Given the description of an element on the screen output the (x, y) to click on. 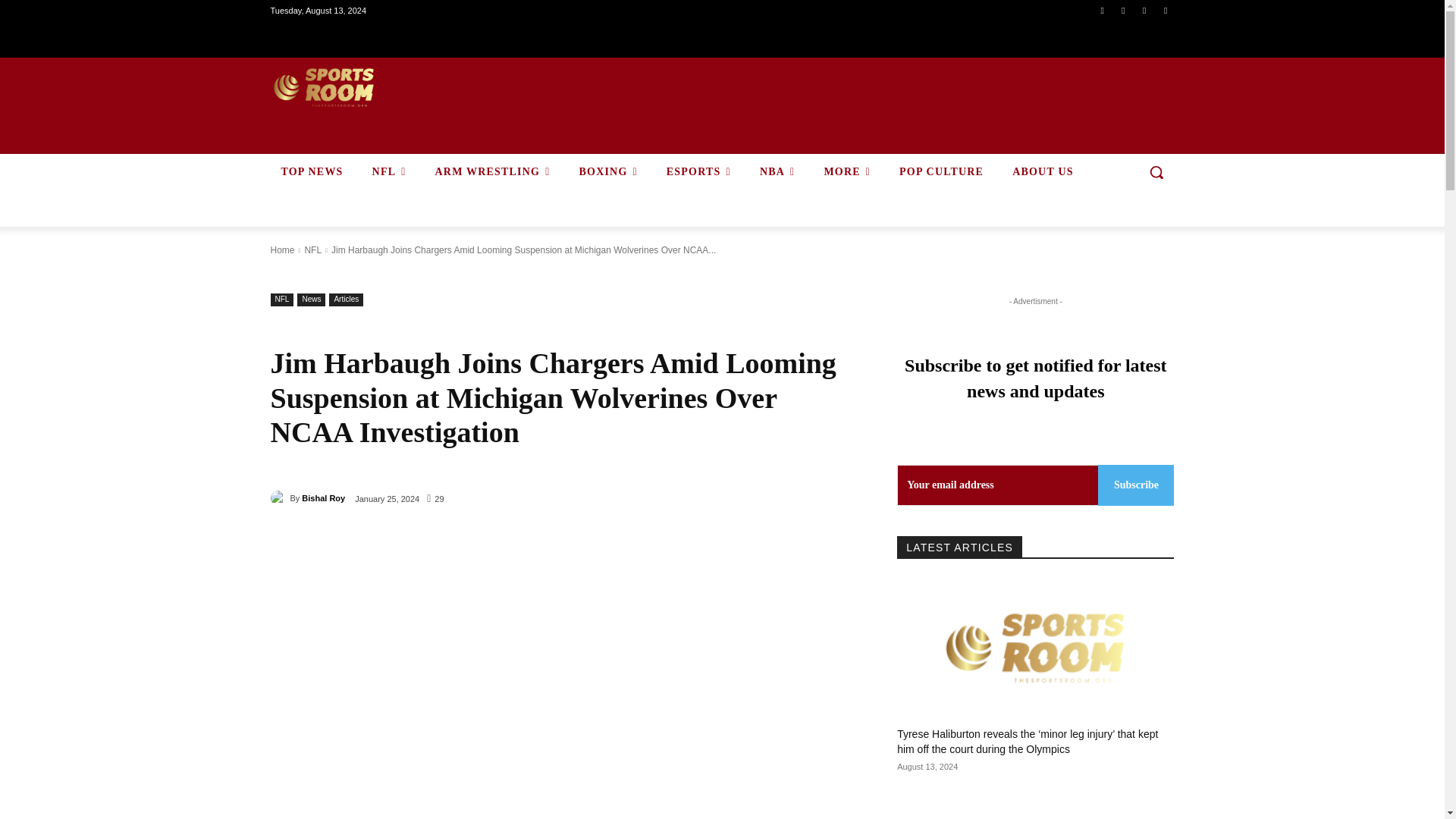
Twitter (1144, 9)
Youtube (1165, 9)
Facebook (1101, 9)
Instagram (1123, 9)
